Given the description of an element on the screen output the (x, y) to click on. 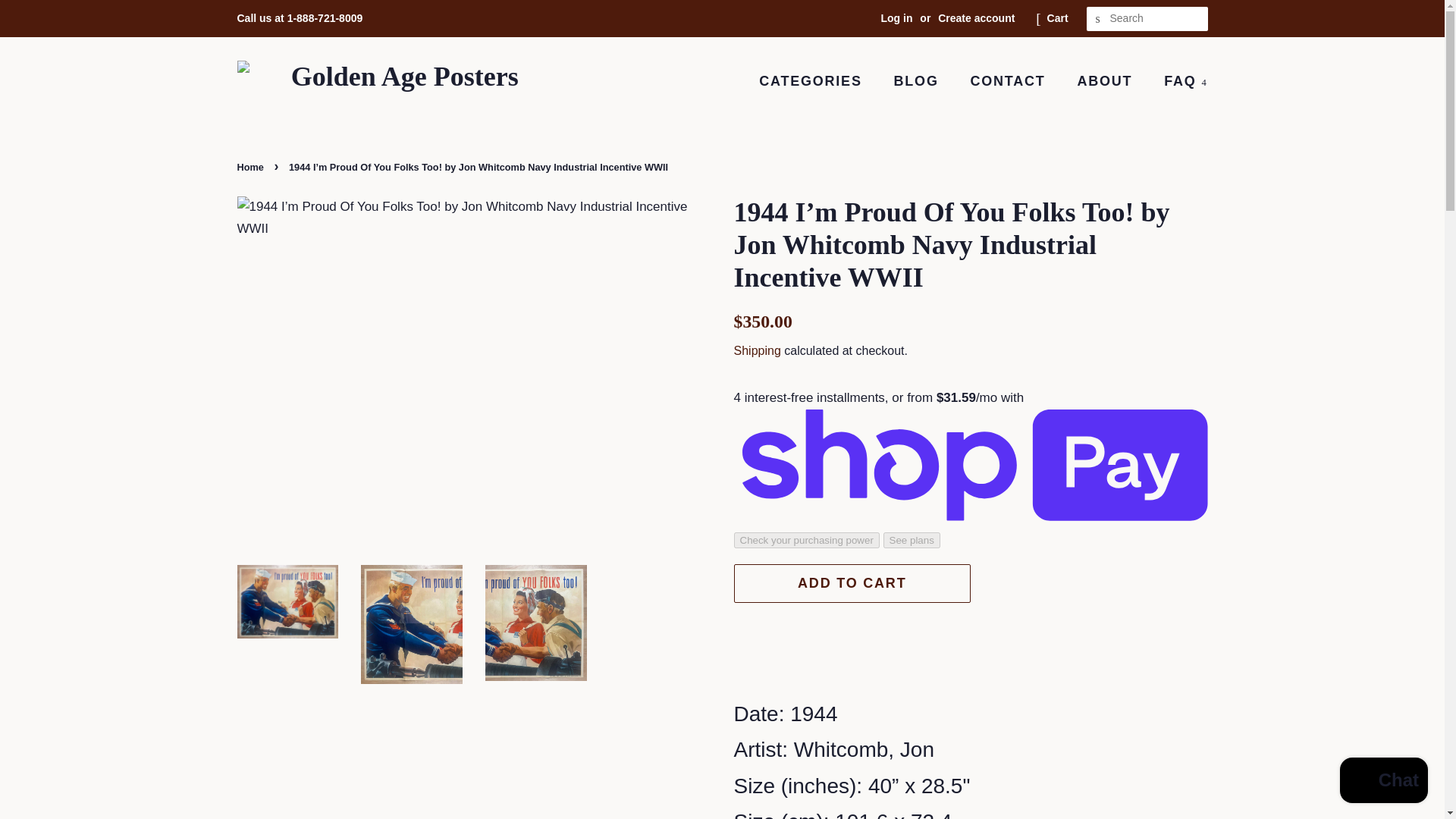
CATEGORIES (817, 80)
BLOG (917, 80)
ADD TO CART (852, 582)
Cart (1057, 18)
FAQ (1180, 80)
Home (250, 166)
Shipping (756, 350)
Log in (896, 18)
CONTACT (1008, 80)
Back to the frontpage (250, 166)
